Given the description of an element on the screen output the (x, y) to click on. 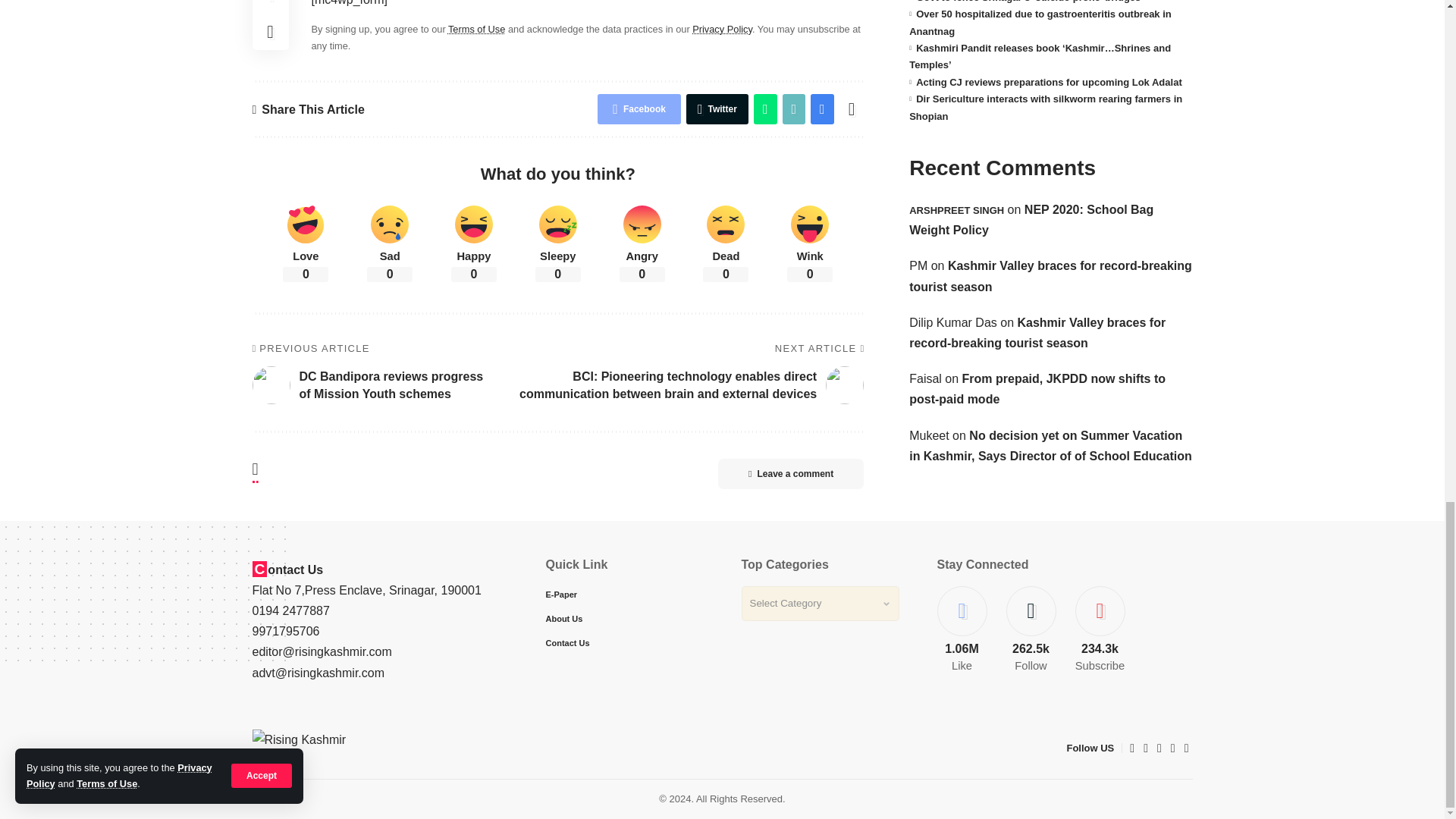
Rising Kashmir (352, 748)
